Given the description of an element on the screen output the (x, y) to click on. 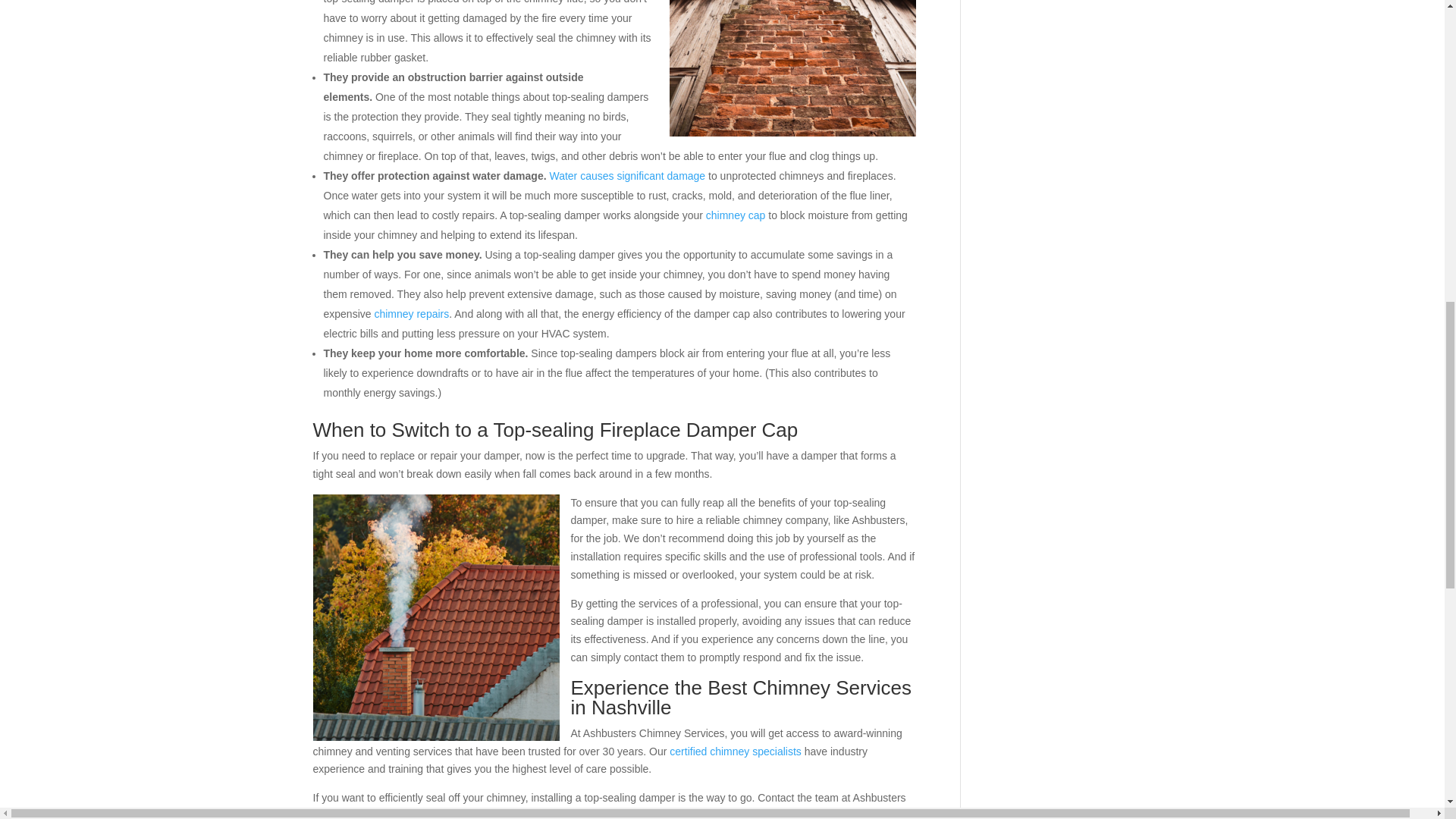
chimney cap (735, 215)
certified chimney specialists (733, 750)
chimney repairs (411, 313)
Water causes significant damage (626, 175)
